Given the description of an element on the screen output the (x, y) to click on. 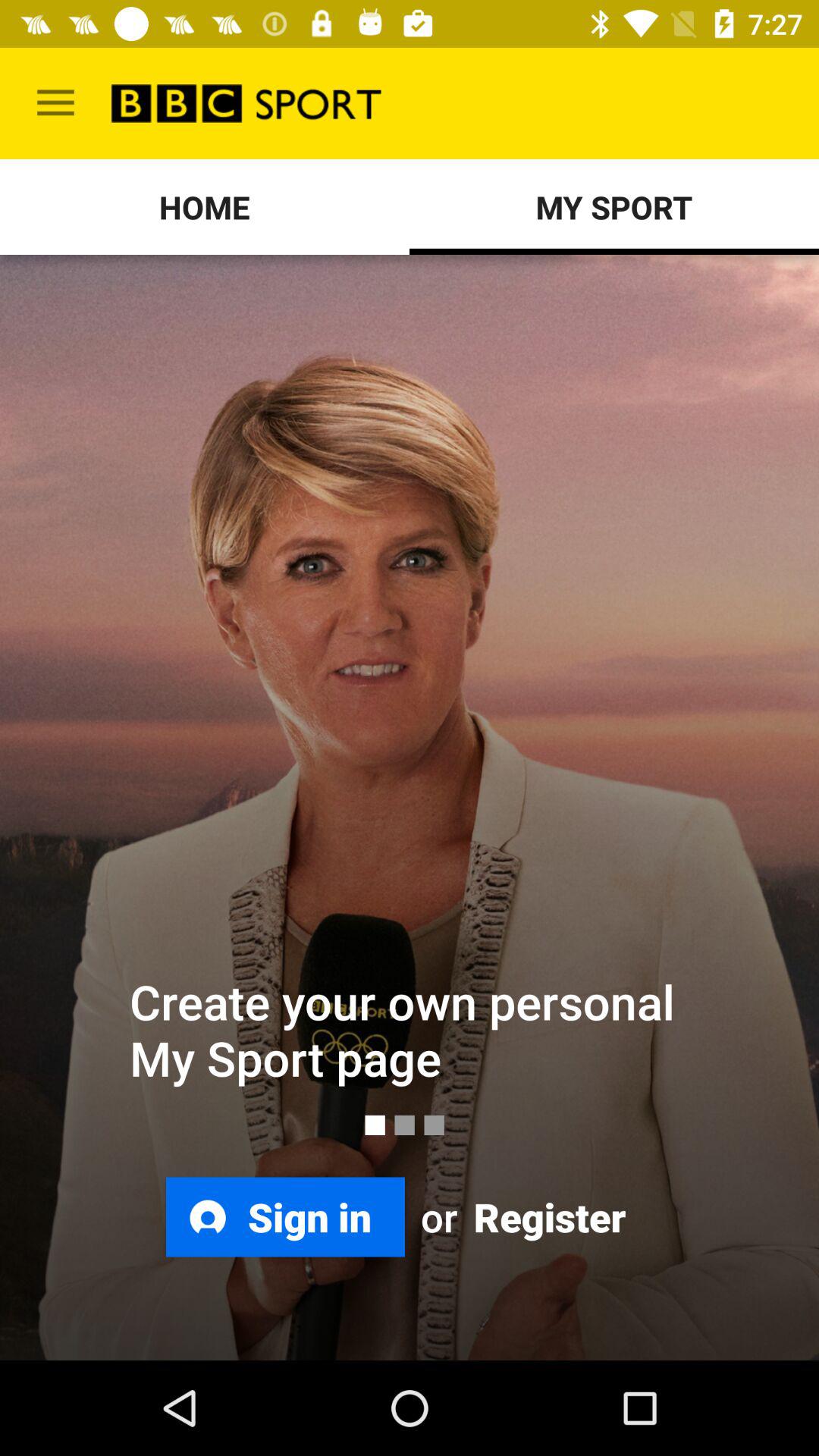
turn off the item next to or icon (285, 1216)
